Given the description of an element on the screen output the (x, y) to click on. 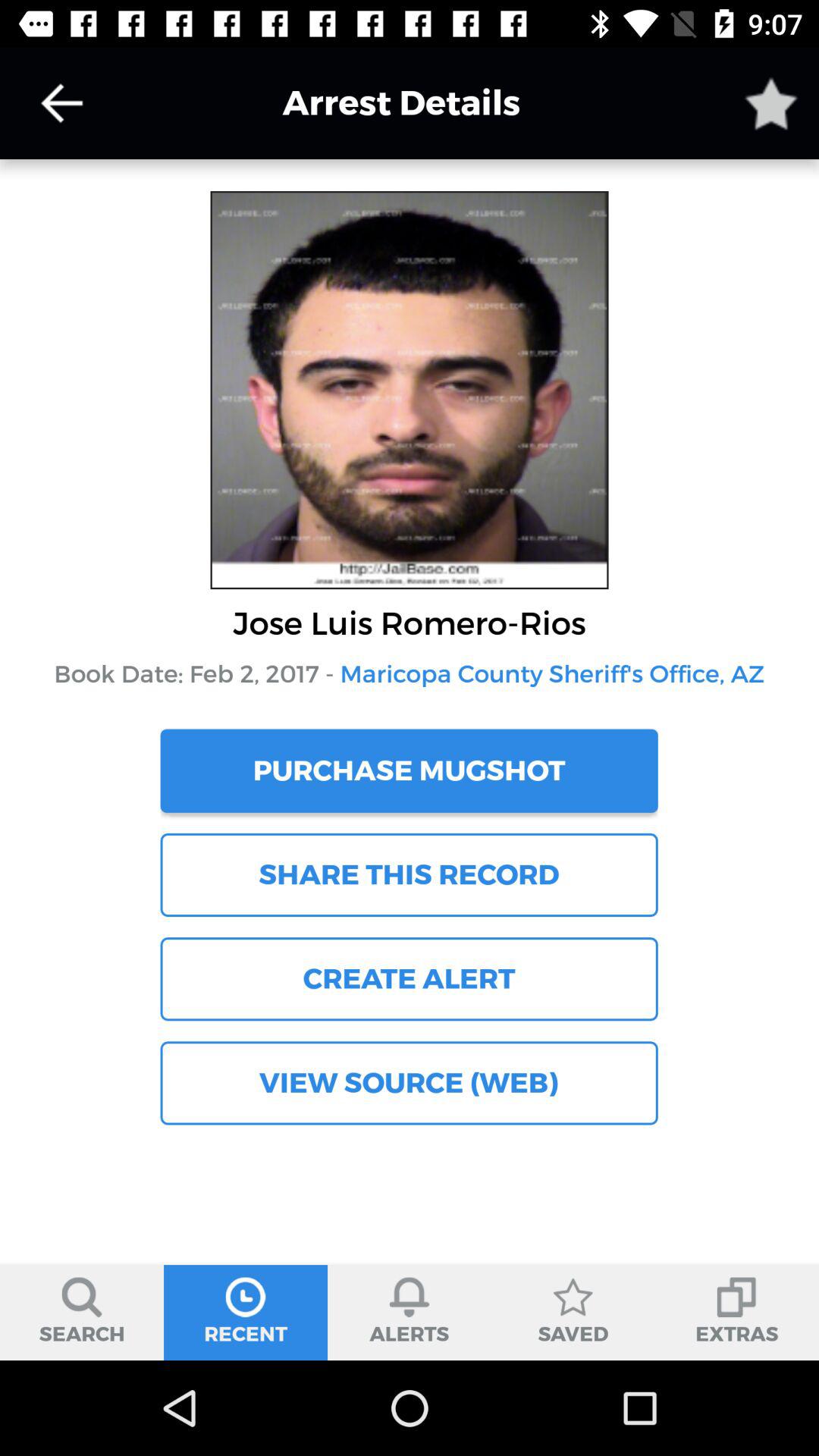
turn on item to the right of       arrest details item (771, 103)
